Given the description of an element on the screen output the (x, y) to click on. 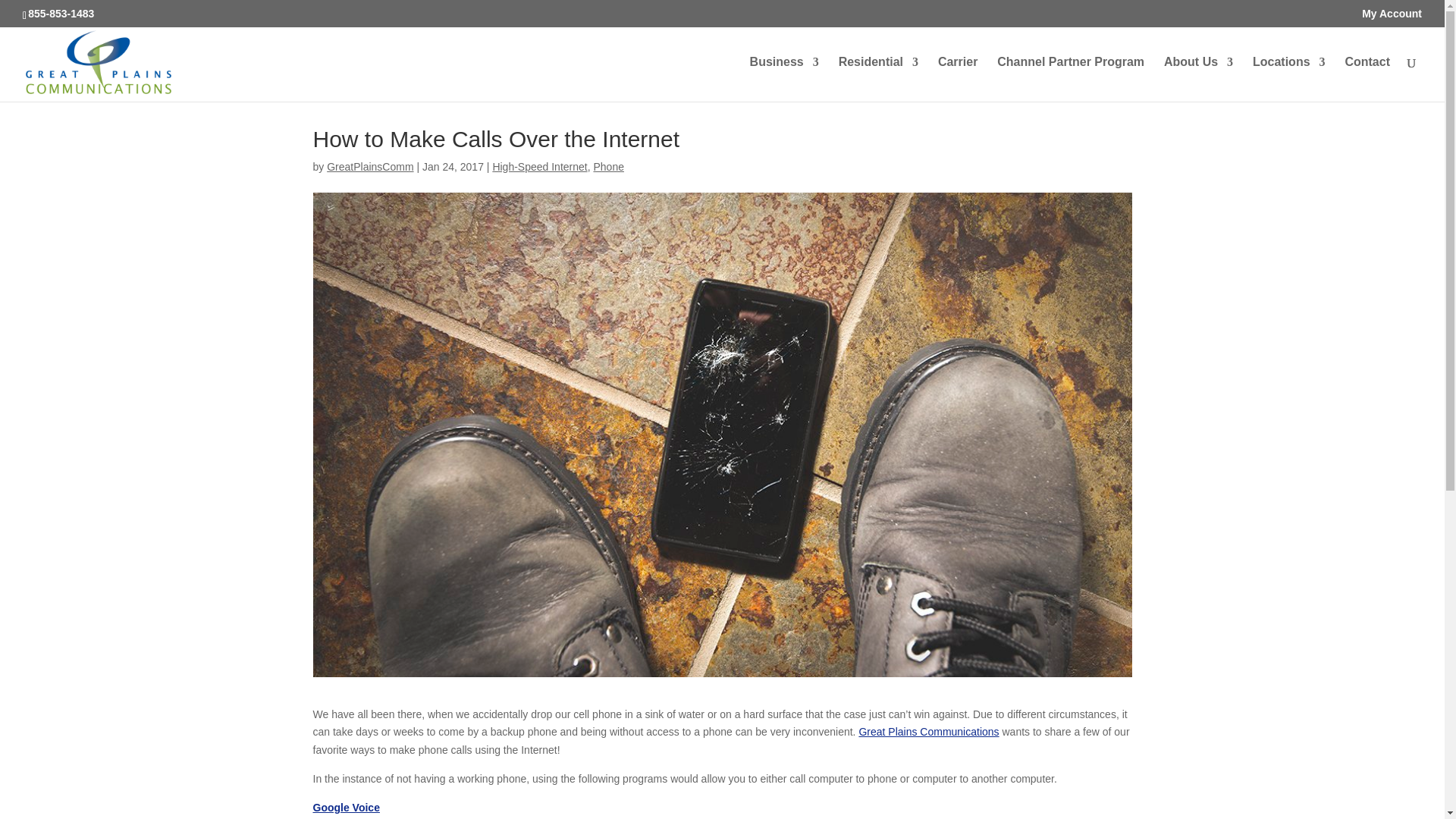
My Account (1391, 13)
Posts by GreatPlainsComm (369, 166)
Residential (878, 78)
Business (783, 78)
About Us (1198, 78)
855-853-1483 (60, 13)
Locations (1288, 78)
Channel Partner Program (1070, 78)
